Given the description of an element on the screen output the (x, y) to click on. 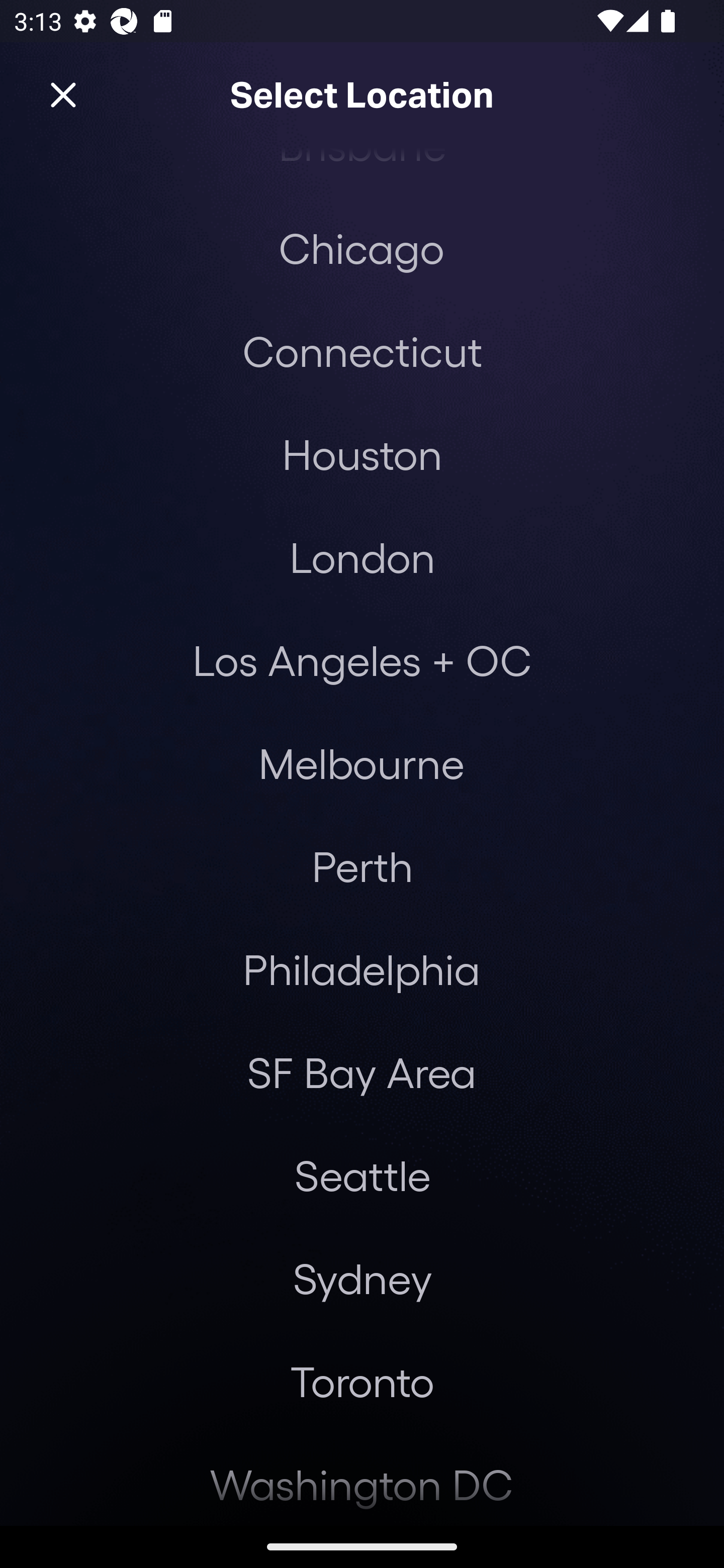
Close (62, 95)
Chicago (361, 247)
Connecticut (361, 350)
Houston (361, 453)
London (361, 556)
Los Angeles + OC (361, 659)
Melbourne (361, 763)
Perth (361, 866)
Philadelphia (361, 968)
SF Bay Area (361, 1072)
Seattle (361, 1175)
Sydney (361, 1277)
Toronto (361, 1381)
Washington DC (361, 1479)
